Given the description of an element on the screen output the (x, y) to click on. 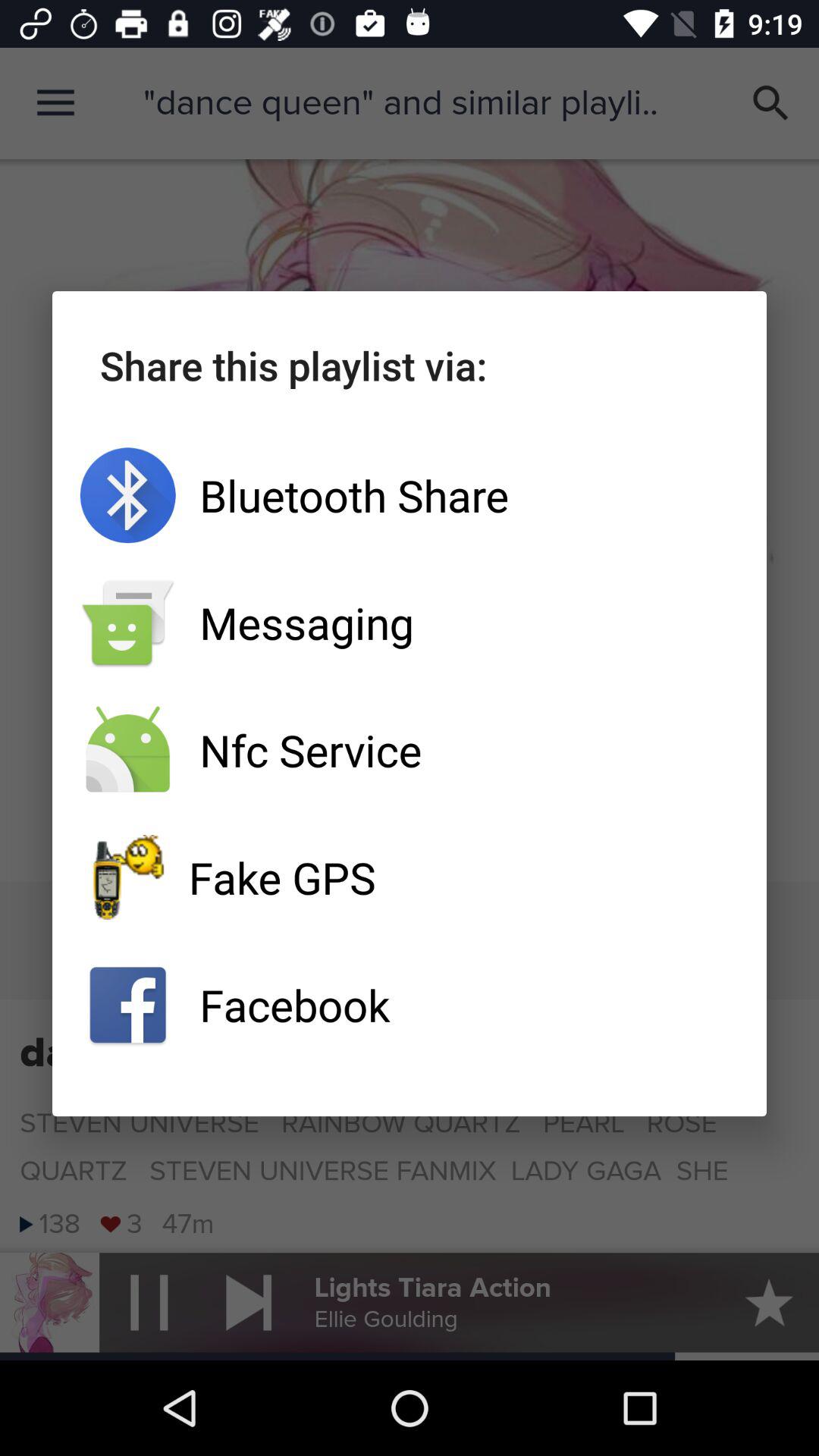
swipe to nfc service app (409, 749)
